Given the description of an element on the screen output the (x, y) to click on. 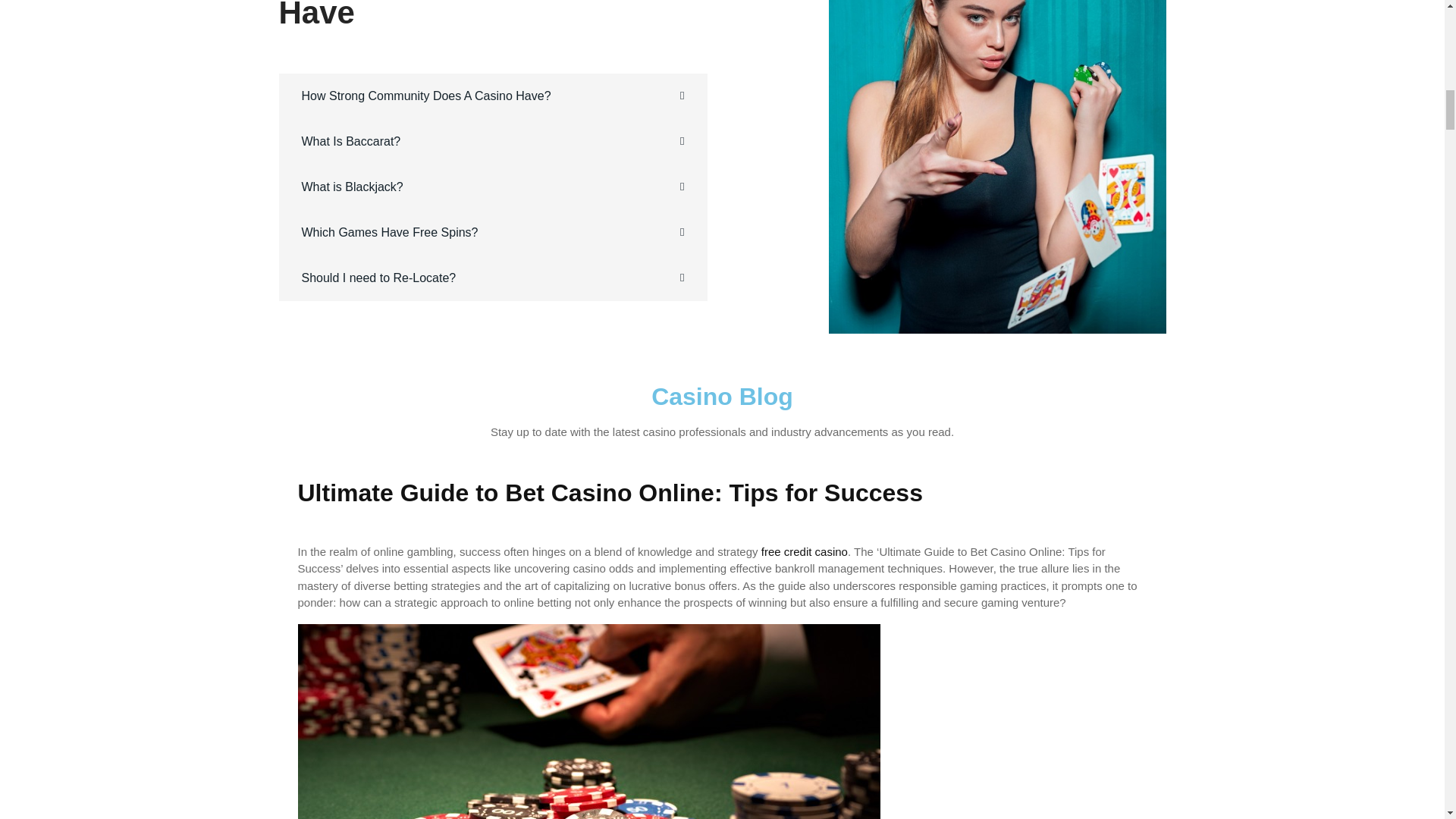
Which Games Have Free Spins? (390, 232)
Should I need to Re-Locate? (379, 277)
Ultimate Guide to Bet Casino Online: Tips for Success (609, 492)
What Is Baccarat? (351, 141)
free credit casino (804, 551)
What is Blackjack? (352, 186)
How Strong Community Does A Casino Have? (426, 95)
